Given the description of an element on the screen output the (x, y) to click on. 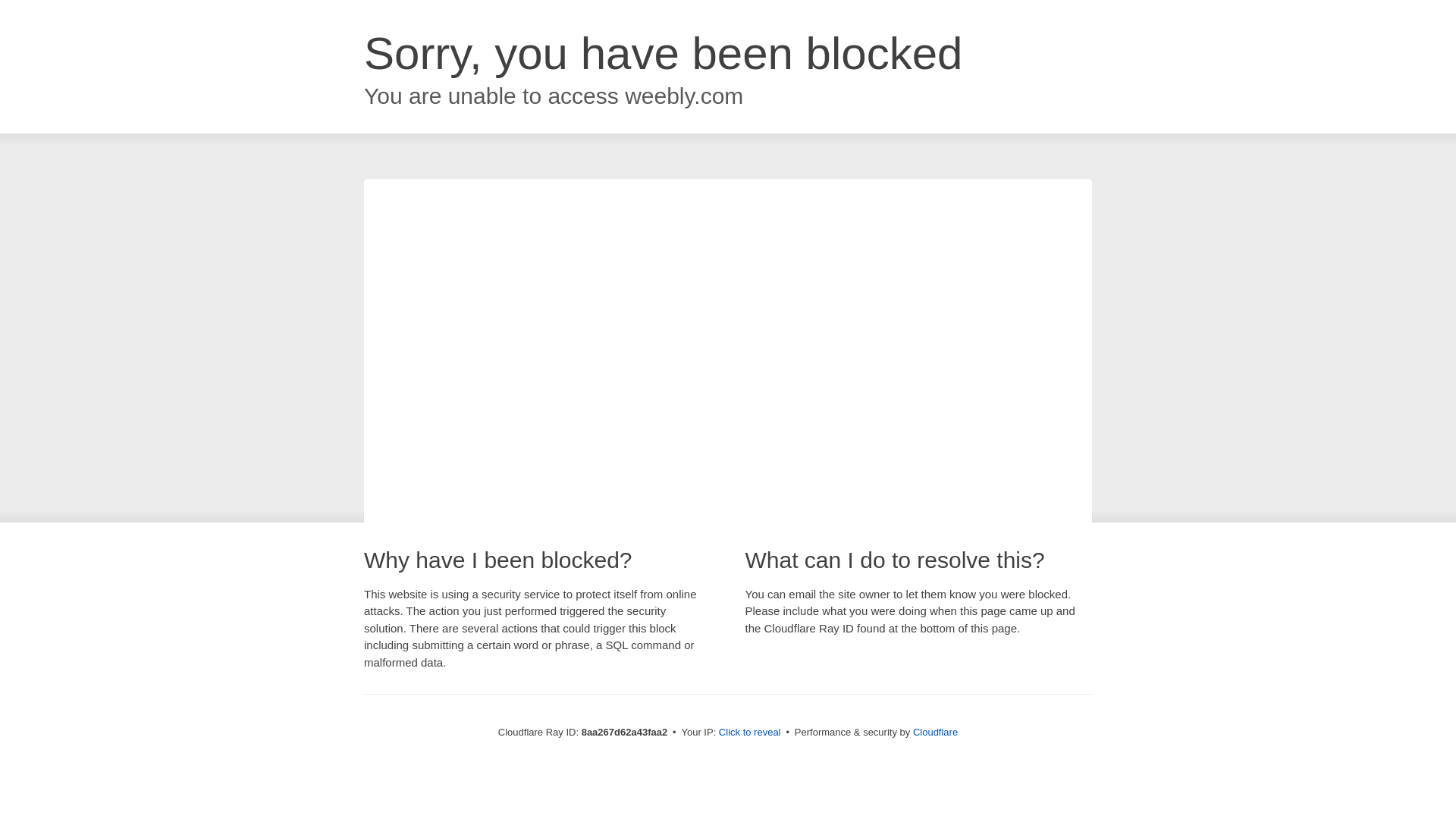
Cloudflare (935, 731)
Click to reveal (749, 732)
